Given the description of an element on the screen output the (x, y) to click on. 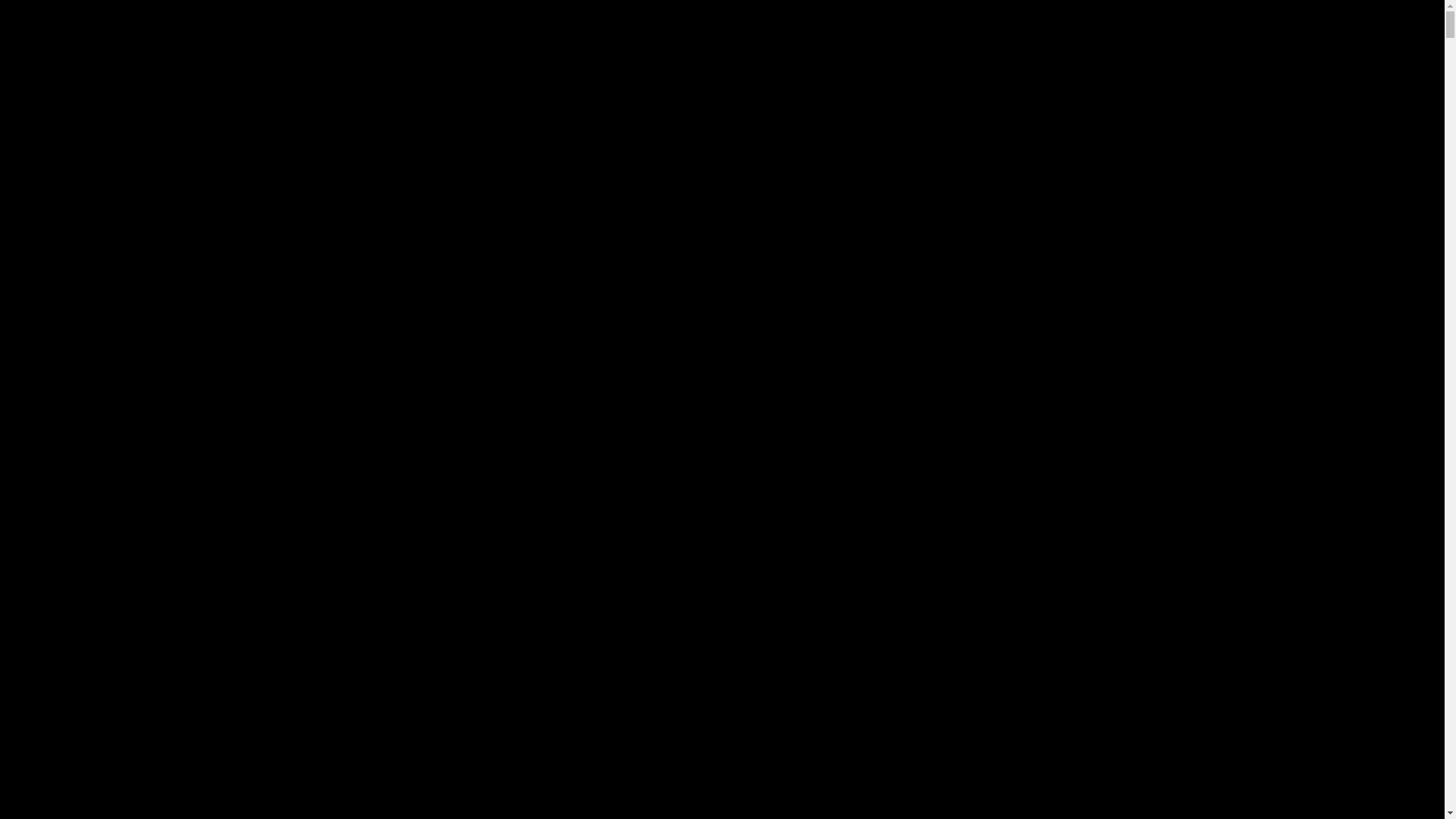
HOME Element type: text (470, 55)
AGENDA Element type: text (914, 55)
DRANKEN Element type: text (731, 55)
+32(0)9/245.02.60 Element type: text (1018, 45)
CONTACT Element type: text (1125, 55)
LUNCH Element type: text (598, 55)
MENU Element type: text (657, 55)
GALERIJ Element type: text (977, 55)
RESERVEREN Element type: text (1052, 55)
TERRAS Element type: text (852, 55)
OVER ONS Element type: text (532, 55)
